Given the description of an element on the screen output the (x, y) to click on. 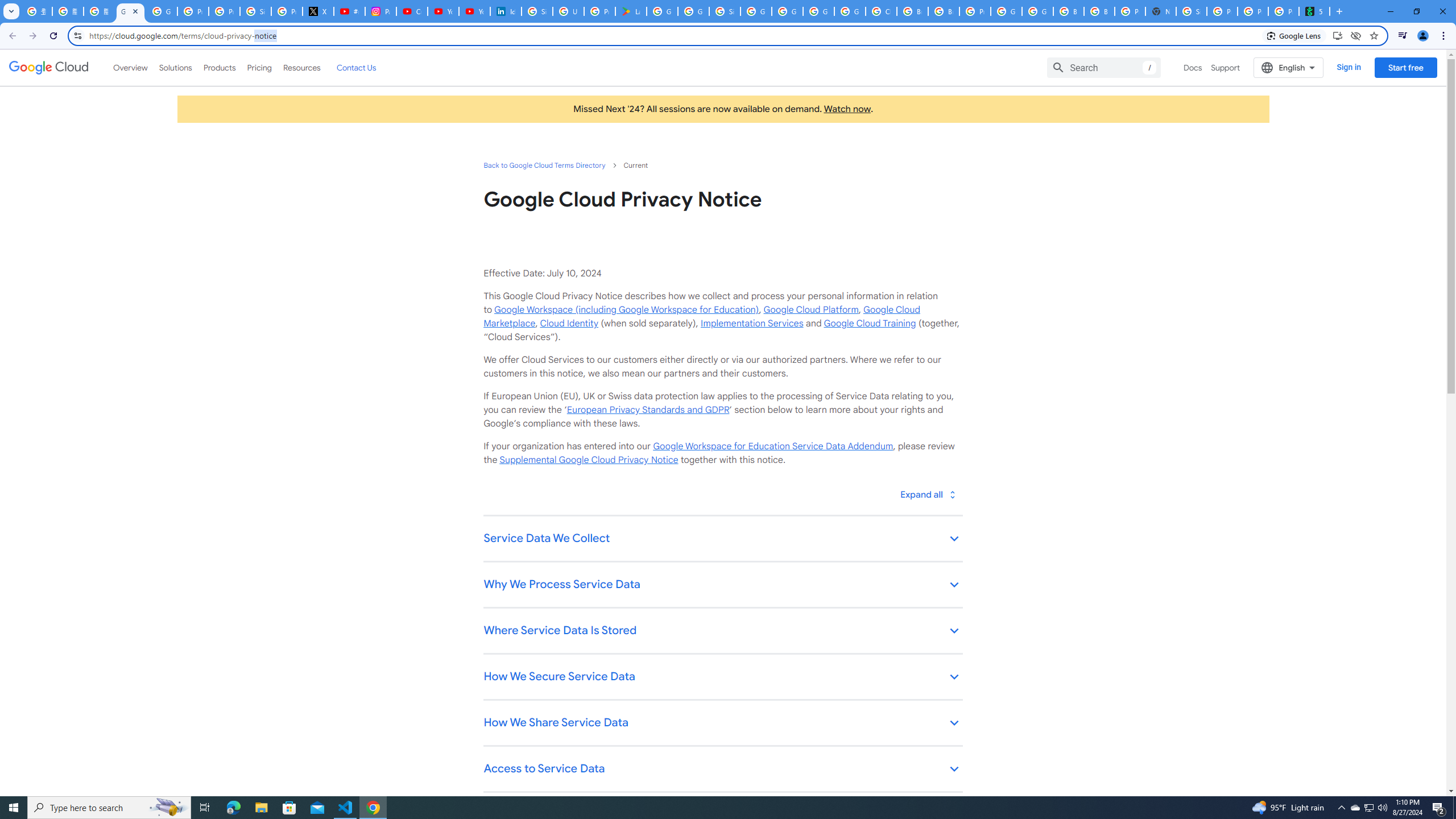
How We Share Service Data keyboard_arrow_down (722, 723)
Back to Google Cloud Terms Directory (544, 165)
Google Workspace - Specific Terms (693, 11)
Access to Service Data keyboard_arrow_down (722, 769)
Google Cloud Privacy Notice (130, 11)
Contact Us (355, 67)
Google Cloud Platform (1005, 11)
Google Workspace for Education Service Data Addendum (772, 446)
Solutions (175, 67)
